Given the description of an element on the screen output the (x, y) to click on. 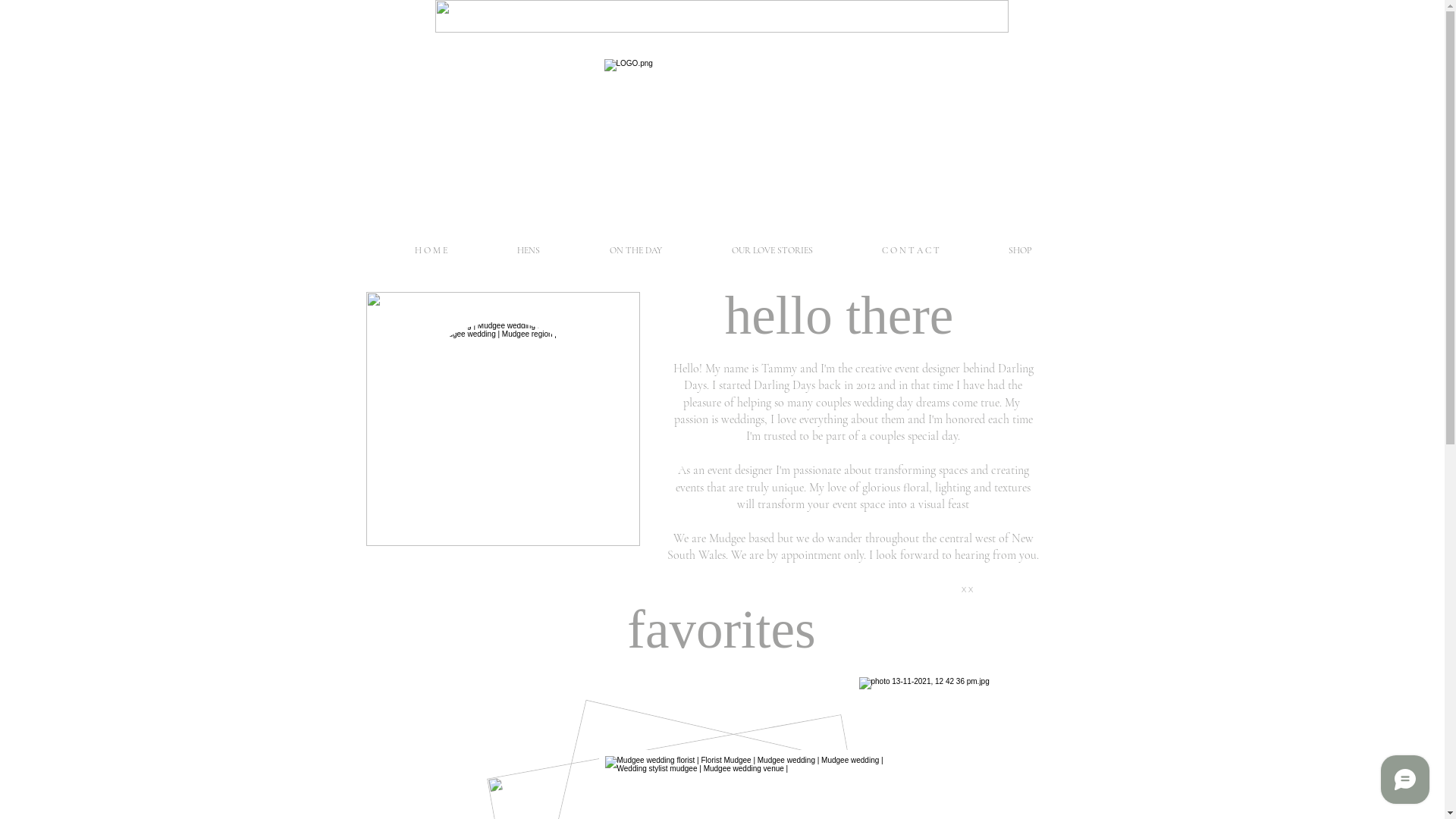
H O M E Element type: text (430, 250)
ON THE DAY Element type: text (635, 250)
HENS Element type: text (528, 250)
SHOP Element type: text (1019, 250)
C O N T A C T Element type: text (910, 250)
OUR LOVE STORIES Element type: text (771, 250)
